Given the description of an element on the screen output the (x, y) to click on. 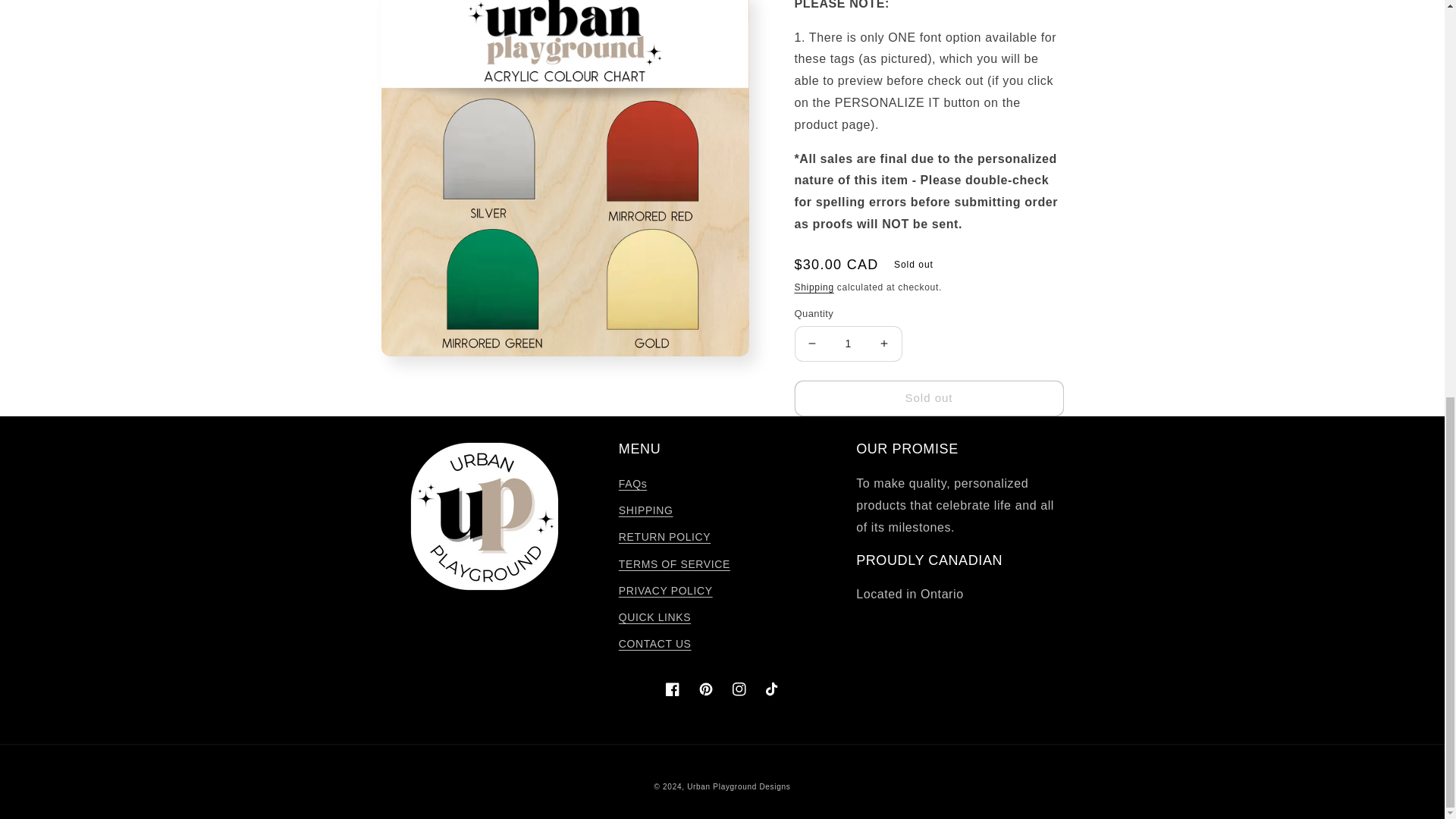
Shopify online store chat (1383, 18)
1 (848, 325)
